Given the description of an element on the screen output the (x, y) to click on. 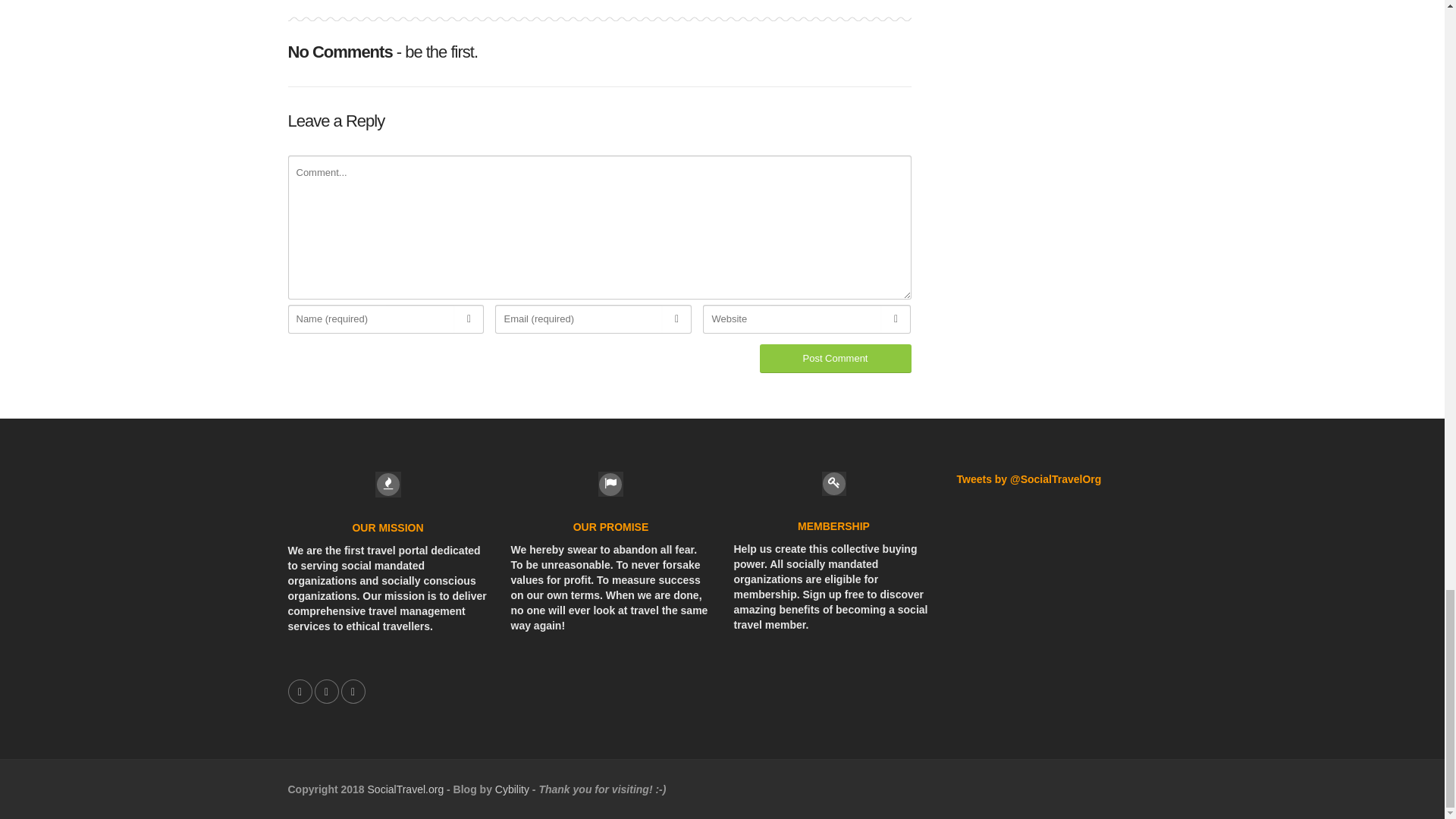
Post Comment (835, 358)
